Given the description of an element on the screen output the (x, y) to click on. 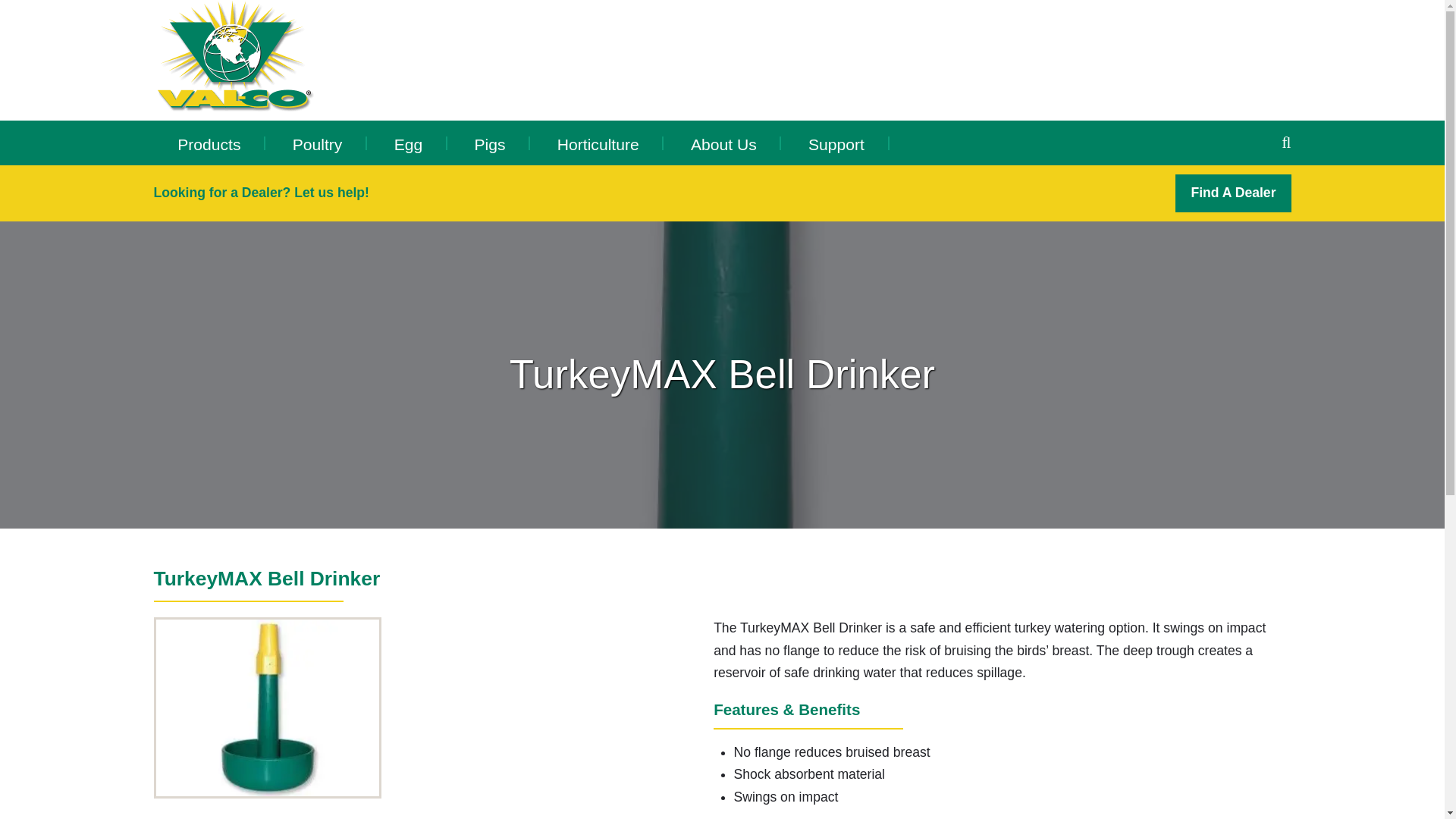
The Ultimate Poultry Watering Guide (860, 182)
Pigs (489, 142)
Feeding (229, 177)
Layers (446, 172)
Safeguard Live Animal Traps (229, 181)
Project Gallery (860, 175)
Broilers (344, 177)
Horticulture (597, 142)
Broiler Breeders (344, 185)
Product Manuals (860, 185)
Pullets (446, 177)
Poultry (316, 142)
Repair Parts (860, 177)
About Us (723, 142)
Turkeys (344, 172)
